Given the description of an element on the screen output the (x, y) to click on. 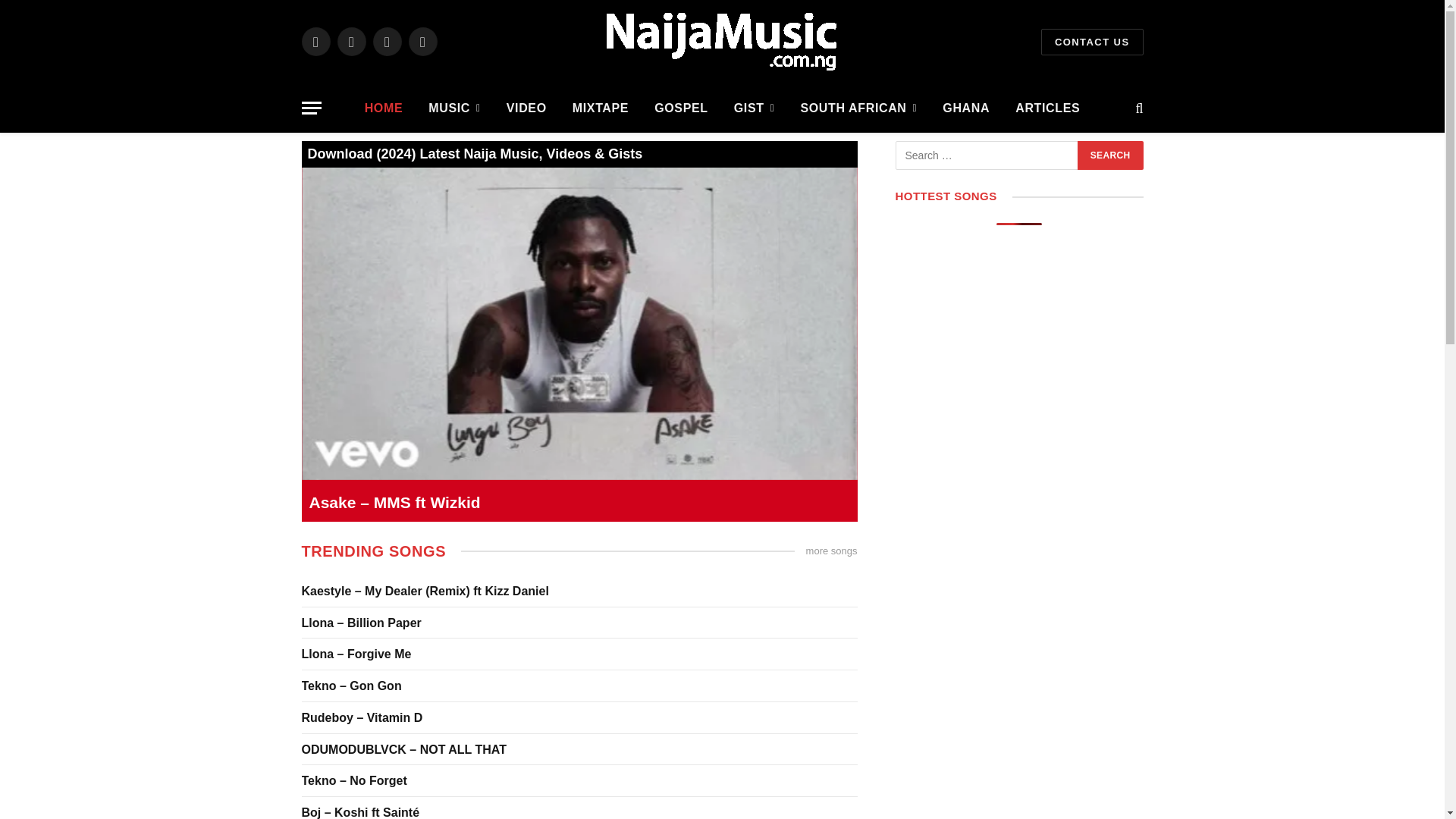
GHANA (966, 107)
Facebook (315, 41)
YouTube (421, 41)
Search (1109, 154)
more songs (831, 550)
MUSIC (453, 107)
Search (1109, 154)
HOME (384, 107)
Instagram (386, 41)
TRENDING SONGS (373, 550)
